Given the description of an element on the screen output the (x, y) to click on. 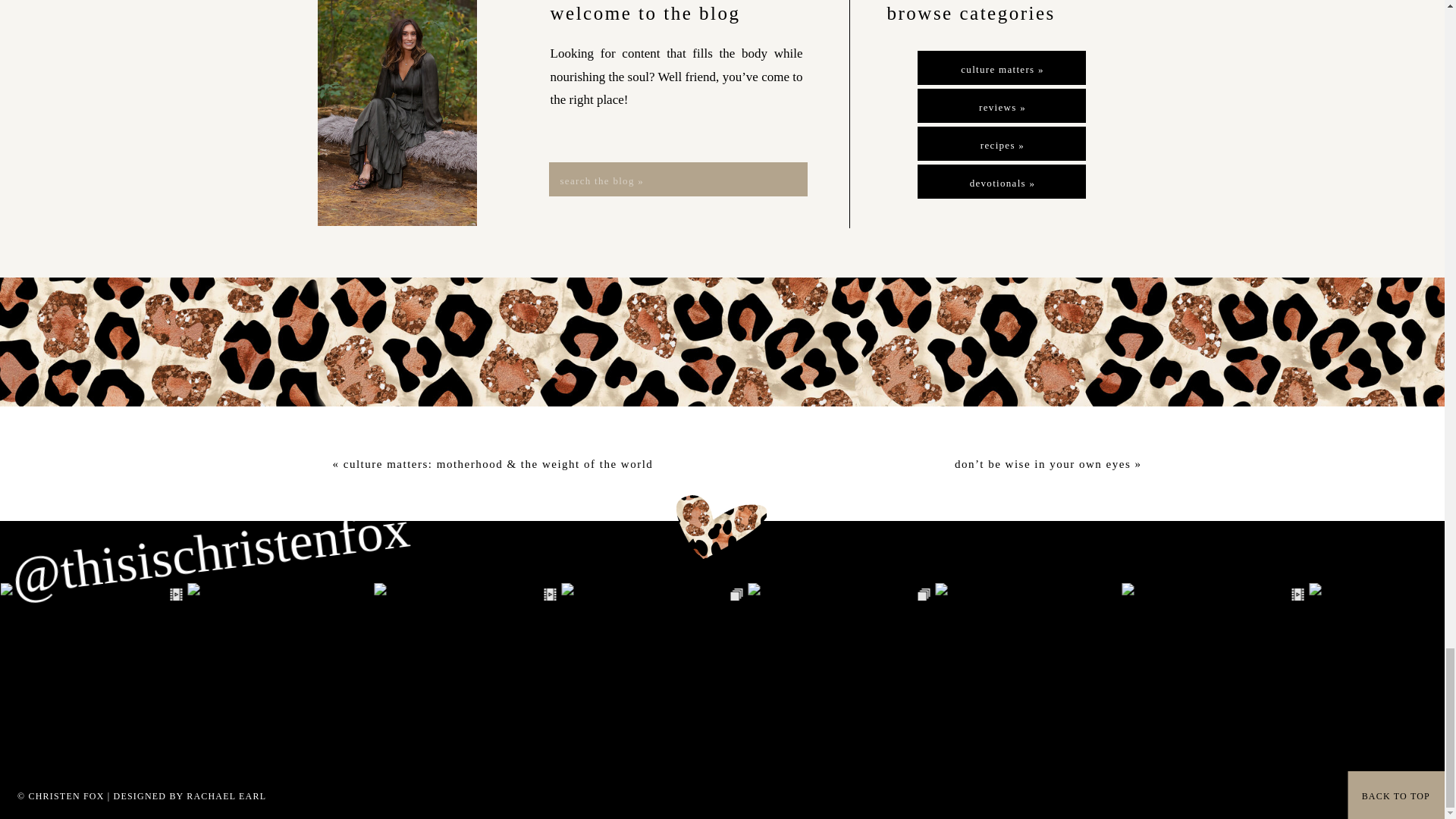
BACK TO TOP (1388, 795)
